Given the description of an element on the screen output the (x, y) to click on. 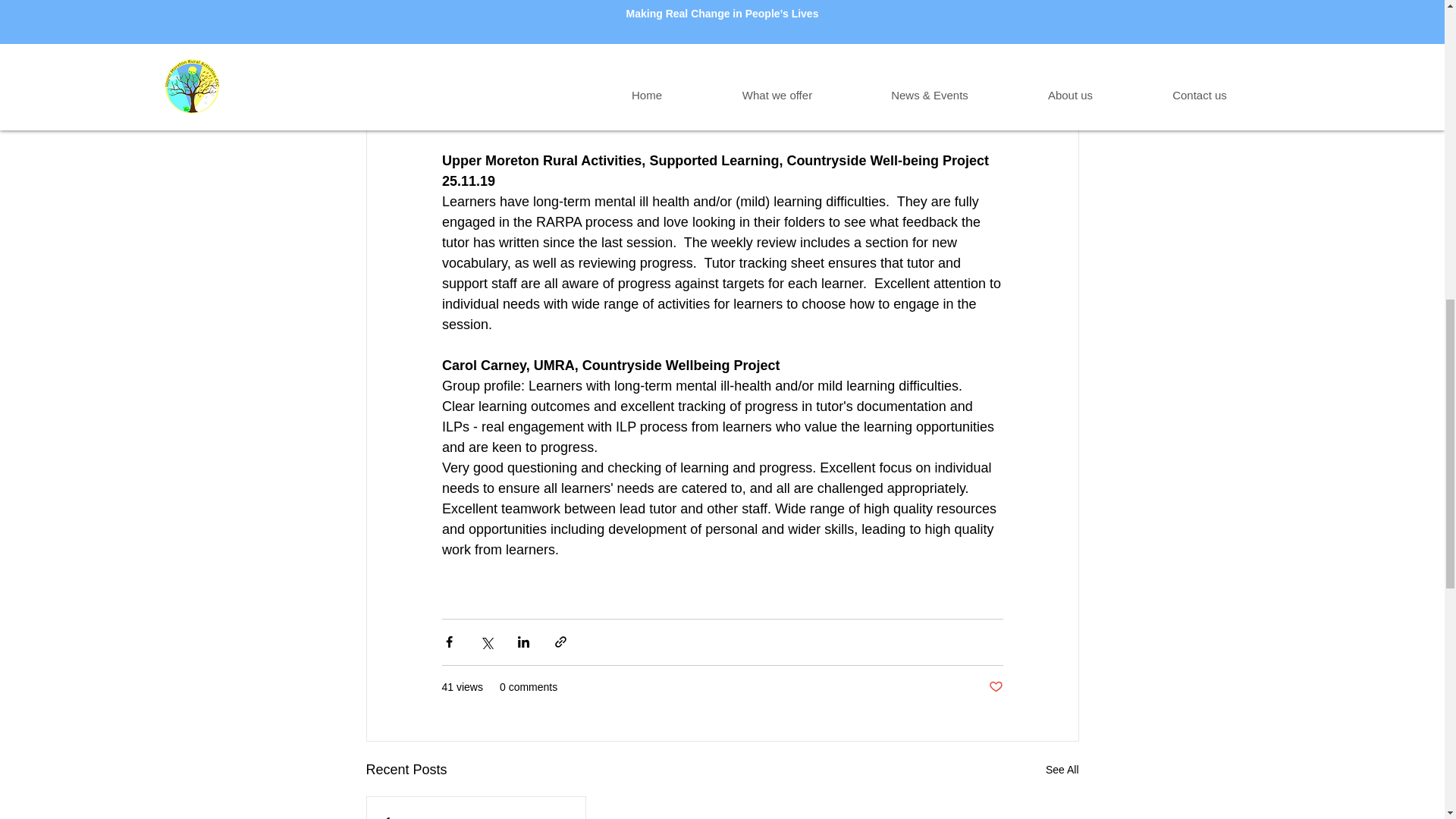
Post not marked as liked (995, 687)
See All (1061, 770)
1 (476, 816)
